Given the description of an element on the screen output the (x, y) to click on. 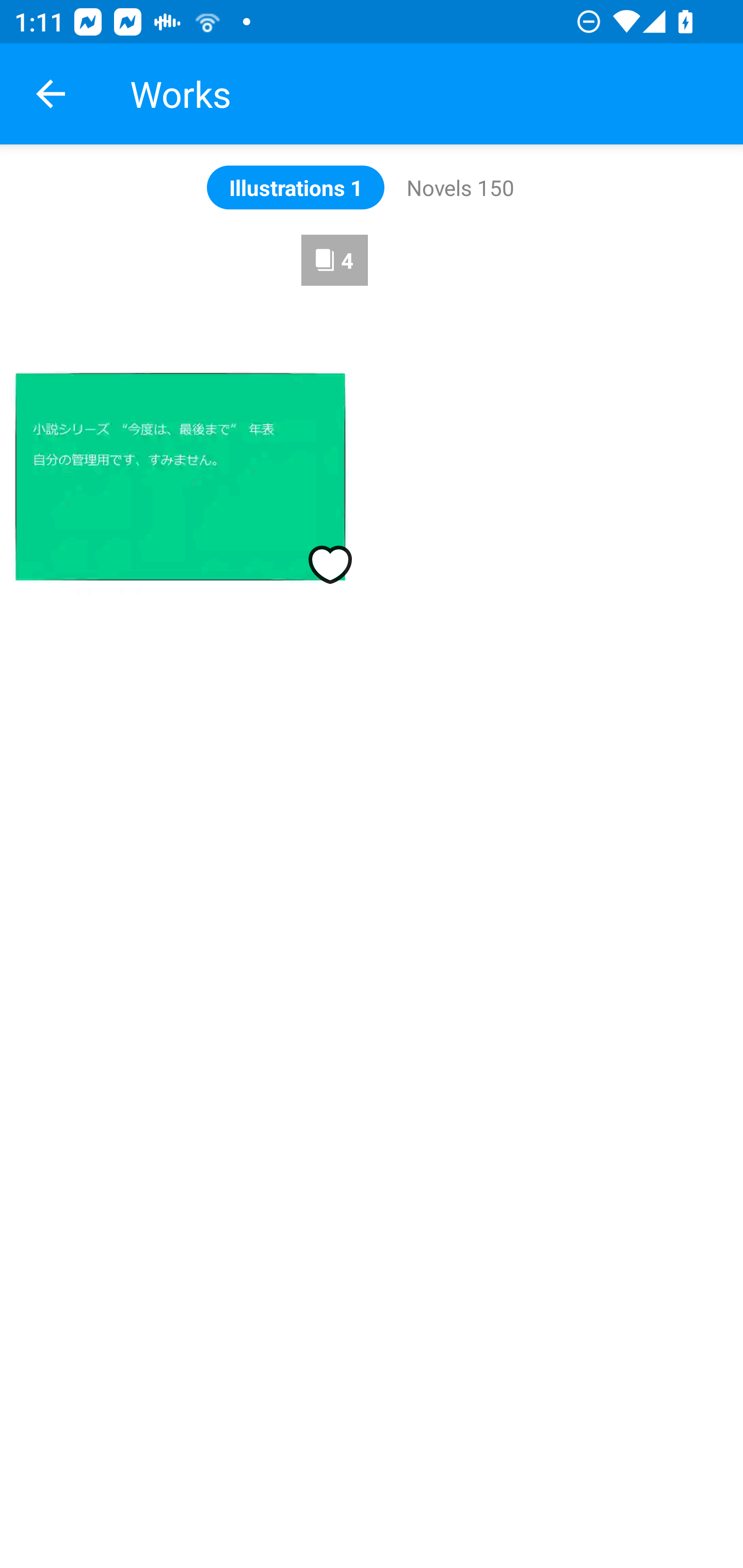
Navigate up (50, 93)
Illustrations 1 (295, 187)
Novels 150 (460, 187)
4 (183, 418)
